Given the description of an element on the screen output the (x, y) to click on. 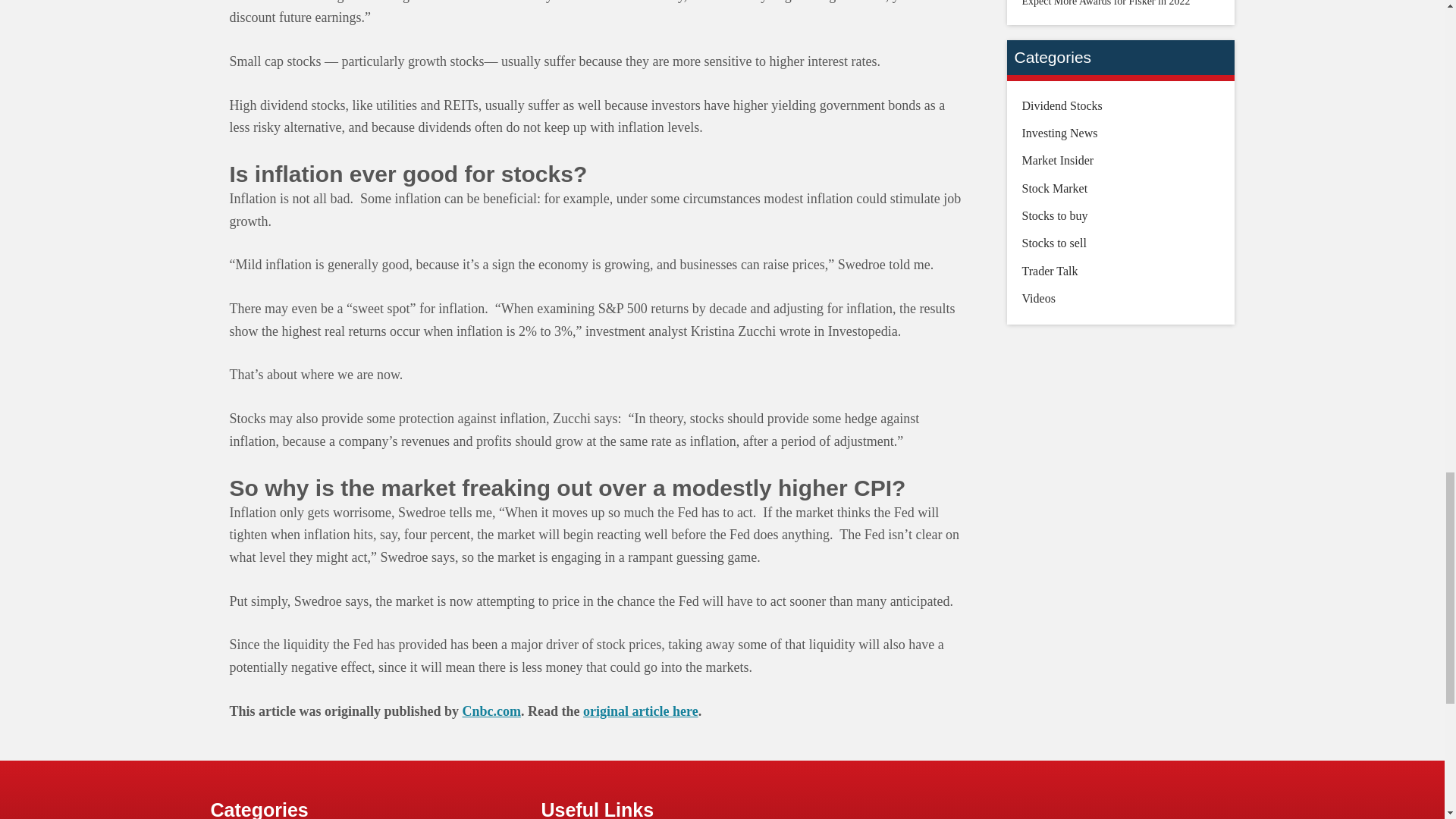
Cnbc.com (492, 711)
original article here (640, 711)
